Given the description of an element on the screen output the (x, y) to click on. 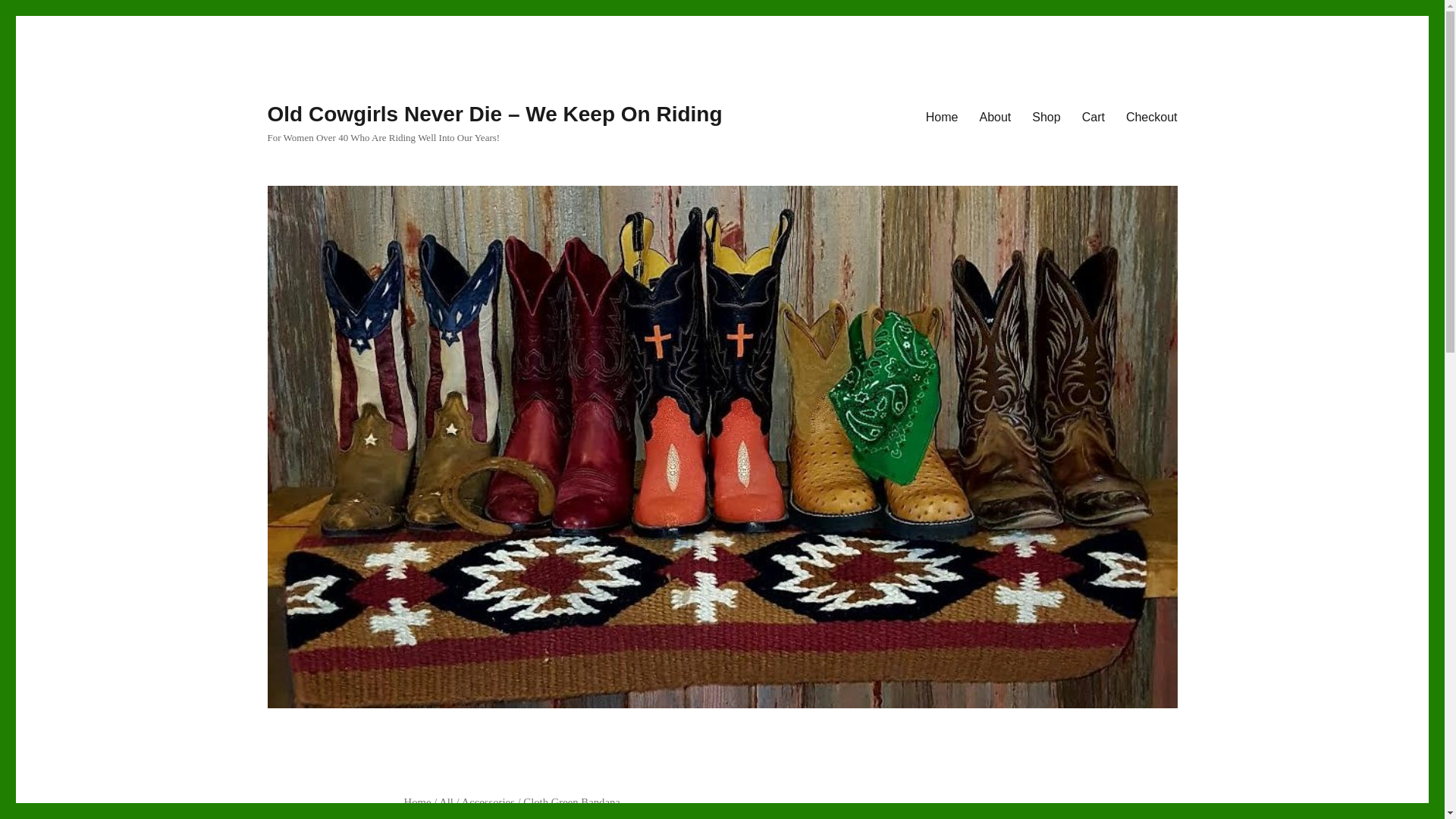
Checkout (1151, 116)
Home (942, 116)
All (445, 802)
Accessories (488, 802)
Shop (1046, 116)
Home (416, 802)
Cart (1093, 116)
About (995, 116)
